Given the description of an element on the screen output the (x, y) to click on. 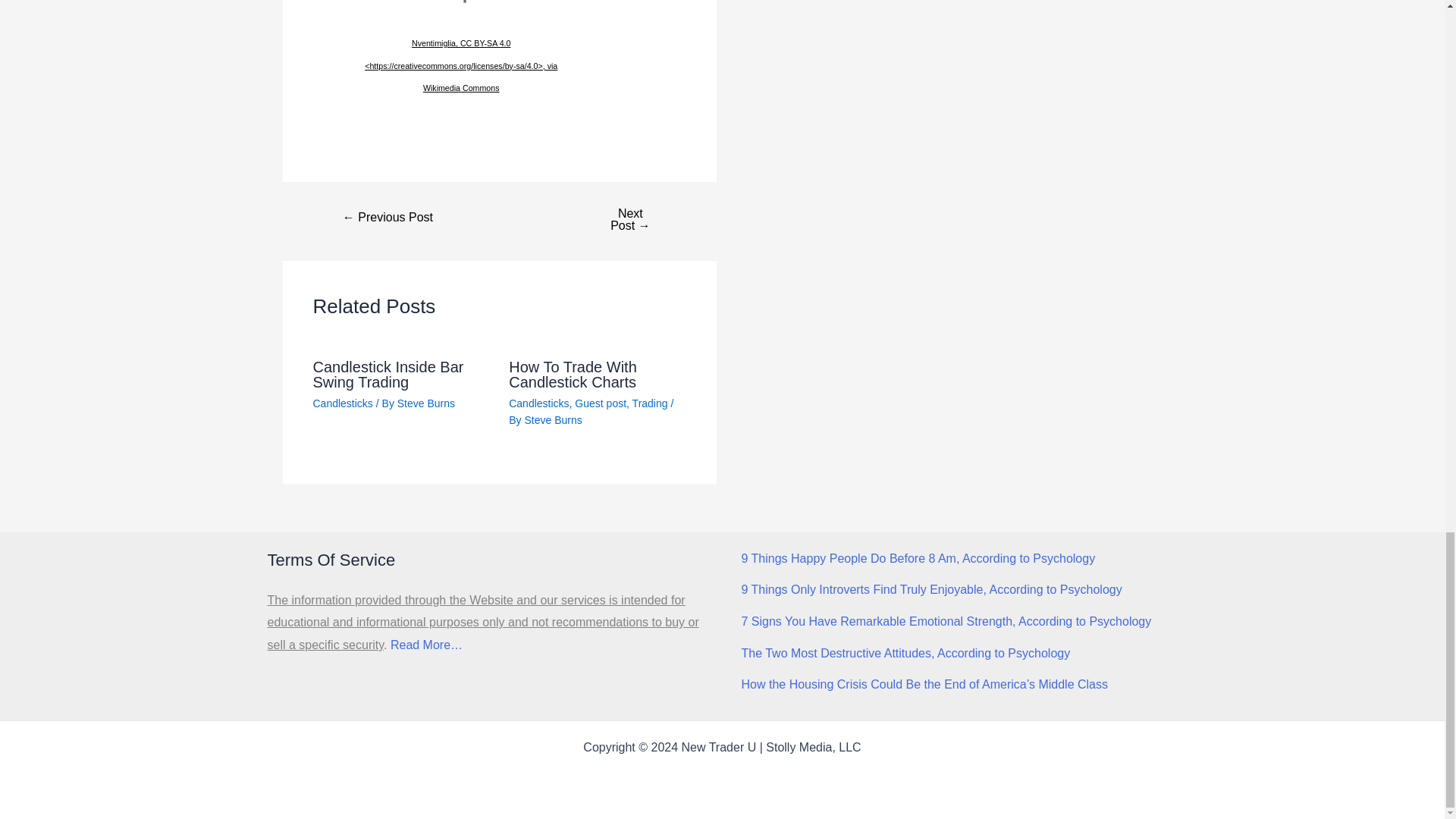
Guest post (600, 403)
How To Trade With Candlestick Charts (572, 374)
Candlestick Inside Bar Swing Trading (388, 374)
View all posts by Steve Burns (552, 419)
Candlesticks (342, 403)
Judas Candle Pattern (387, 217)
View all posts by Steve Burns (425, 403)
Things I Learned After 30 Years of Trading (630, 219)
High Wave Spinning Top Candle 3 (460, 10)
Steve Burns (425, 403)
